Given the description of an element on the screen output the (x, y) to click on. 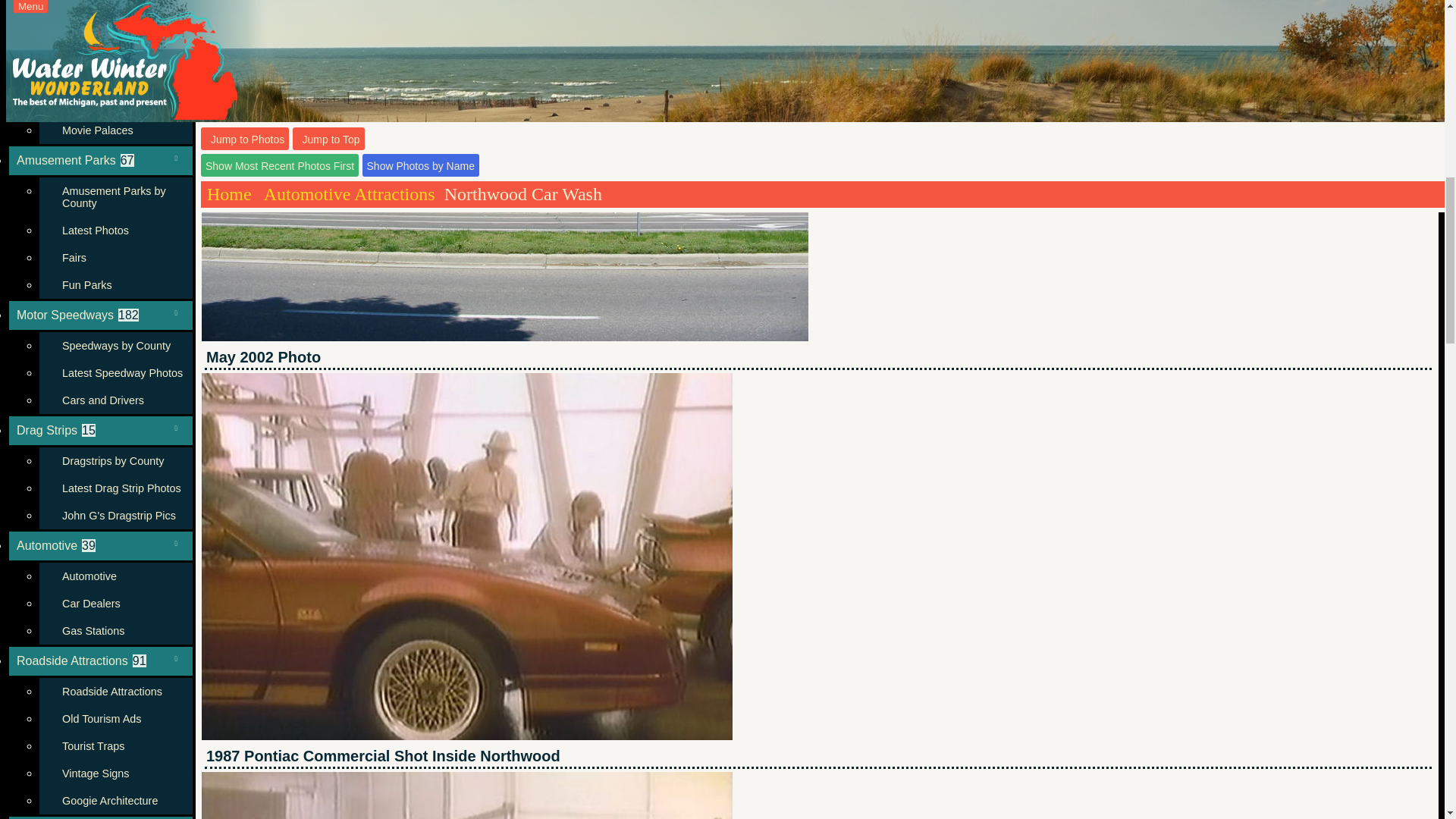
Indoor Theaters1306 (100, 2)
Opera Houses59 (115, 48)
Cars and Drivers (115, 400)
Movie Palaces (115, 130)
Latest Photos (115, 230)
Fun Parks (115, 284)
Old Theater Ads (115, 103)
Speedways by County (115, 345)
Latest Theater Photos (115, 75)
Fairs (115, 257)
Theaters by County (115, 21)
Amusement Parks by County (115, 197)
